Given the description of an element on the screen output the (x, y) to click on. 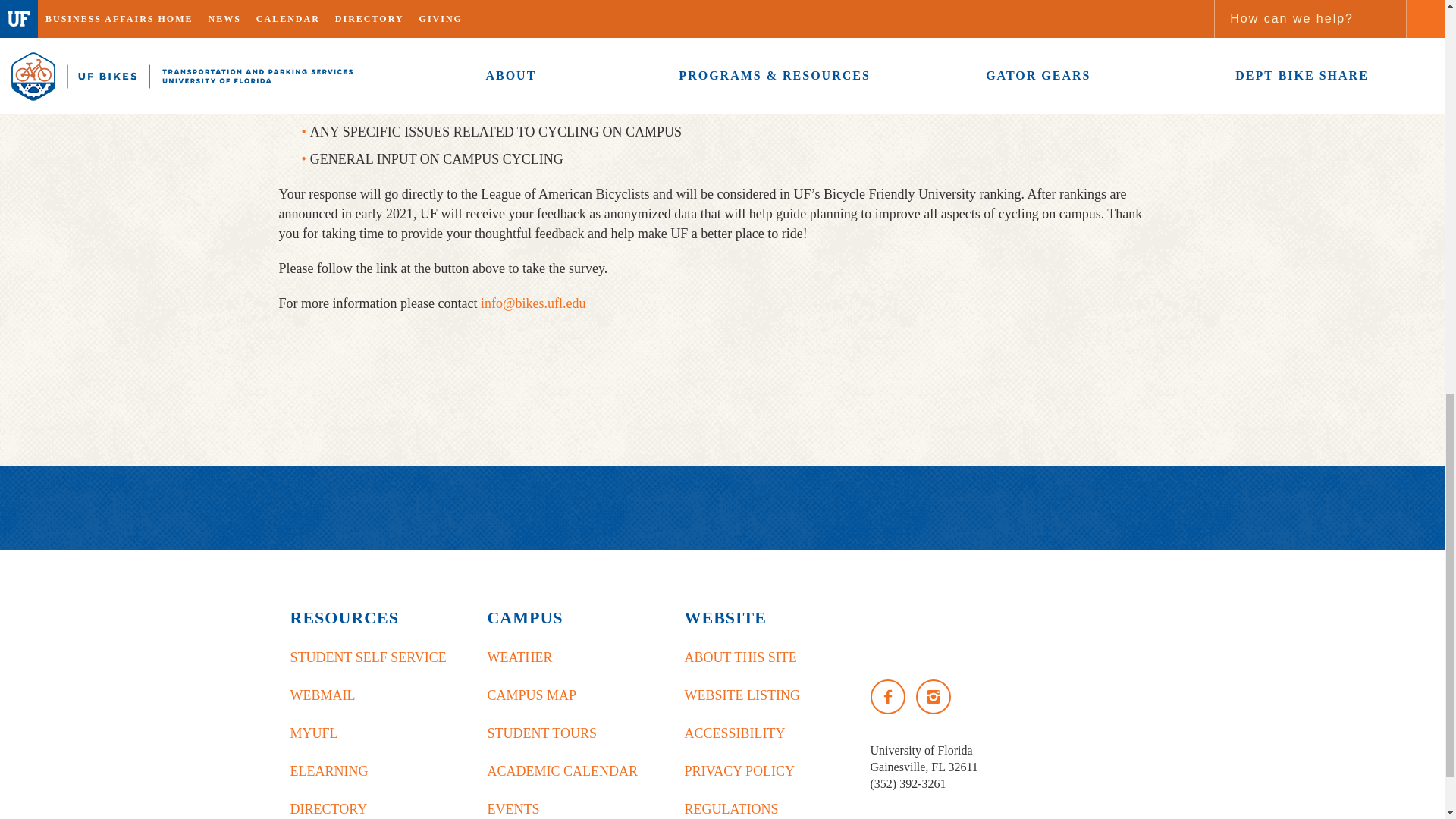
INSTAGRAM (932, 696)
University of Florida (992, 628)
FACEBOOK (887, 696)
